Given the description of an element on the screen output the (x, y) to click on. 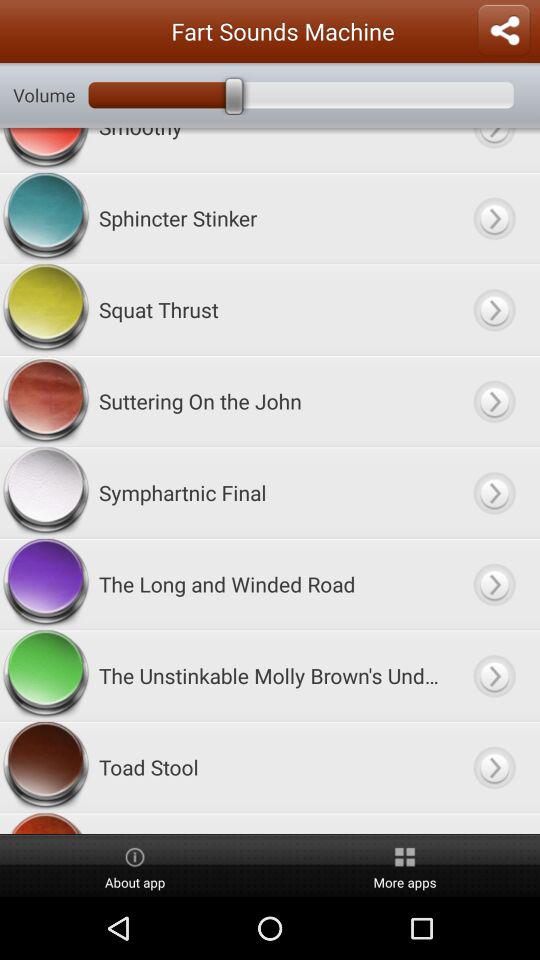
launch tonya farting (269, 823)
